Given the description of an element on the screen output the (x, y) to click on. 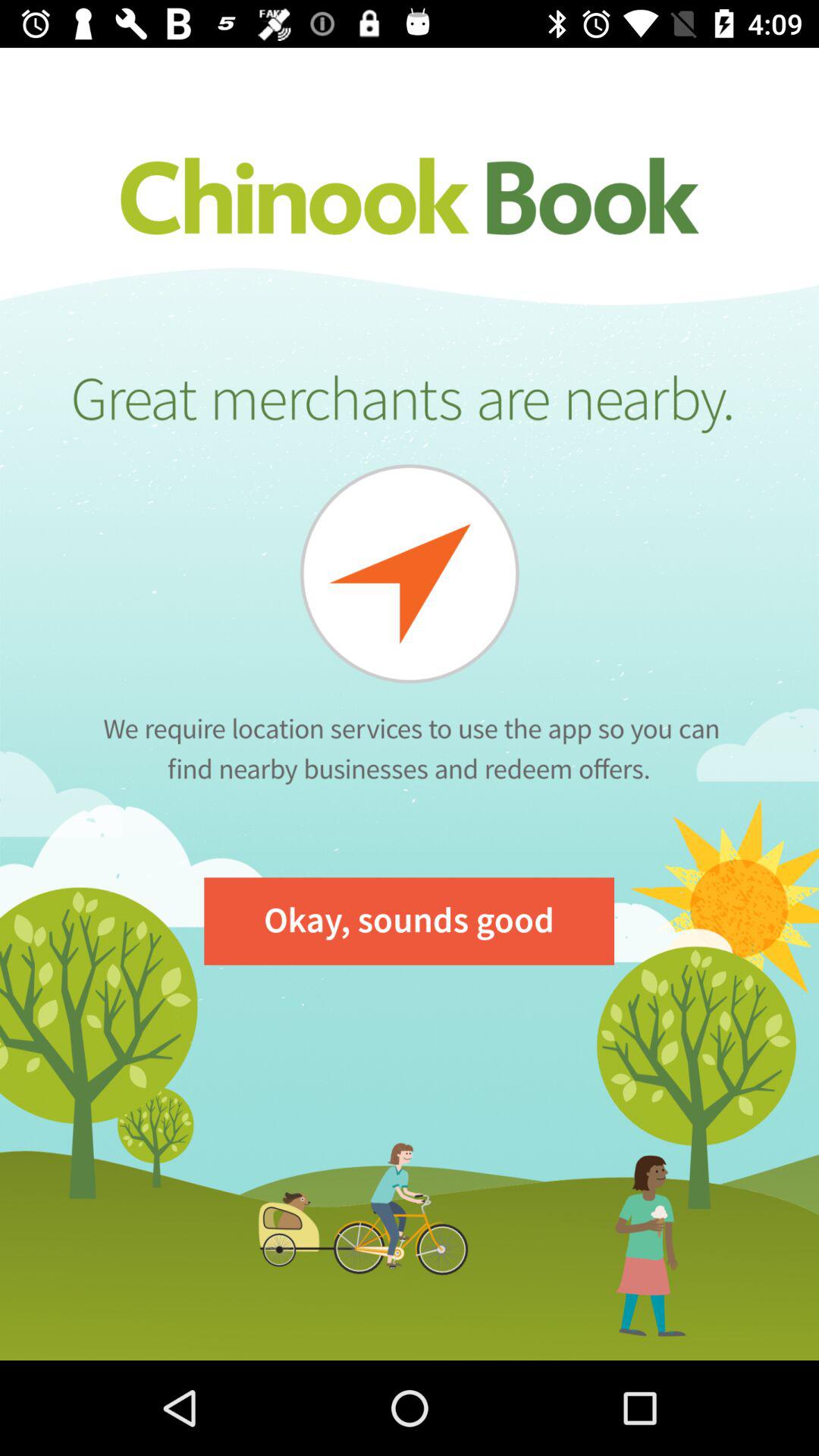
select the okay, sounds good item (409, 921)
